Given the description of an element on the screen output the (x, y) to click on. 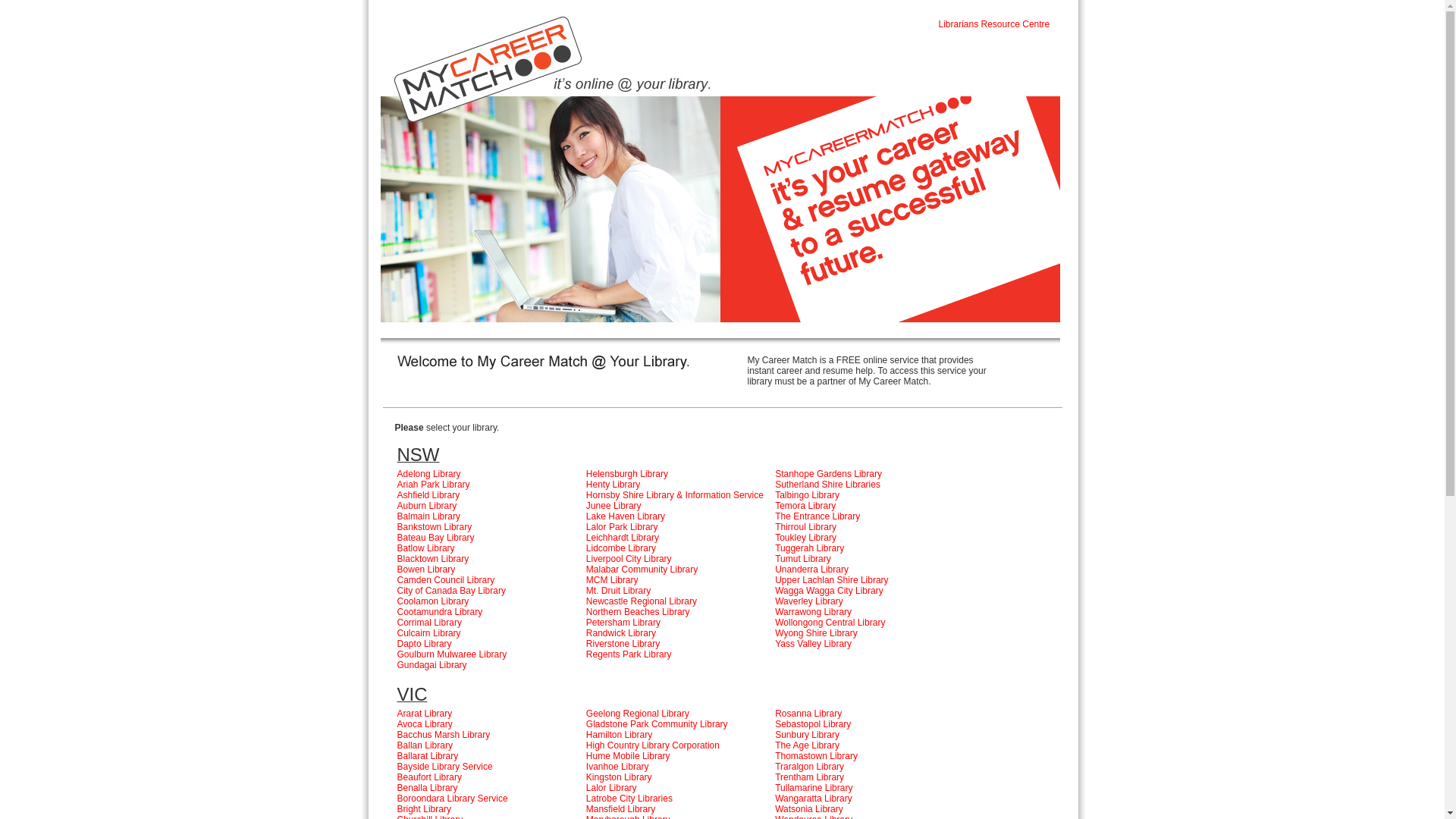
Randwick Library Element type: text (620, 632)
Riverstone Library Element type: text (622, 643)
Bowen Library Element type: text (426, 569)
Avoca Library Element type: text (424, 723)
Ivanhoe Library Element type: text (617, 766)
Bayside Library Service Element type: text (444, 766)
Stanhope Gardens Library Element type: text (828, 473)
Dapto Library Element type: text (424, 643)
Balmain Library Element type: text (428, 516)
Mansfield Library Element type: text (620, 808)
Sunbury Library Element type: text (807, 734)
Sutherland Shire Libraries Element type: text (827, 484)
Blacktown Library Element type: text (433, 558)
Hornsby Shire Library & Information Service Element type: text (675, 494)
Wangaratta Library Element type: text (813, 798)
Goulburn Mulwaree Library Element type: text (452, 654)
Liverpool City Library Element type: text (628, 558)
Thirroul Library Element type: text (805, 526)
Lidcombe Library Element type: text (620, 547)
Toukley Library Element type: text (805, 537)
Warrawong Library Element type: text (813, 611)
Bankstown Library Element type: text (434, 526)
Gundagai Library Element type: text (432, 664)
Lalor Library Element type: text (611, 787)
Tumut Library Element type: text (803, 558)
Ararat Library Element type: text (424, 713)
Culcairn Library Element type: text (429, 632)
Camden Council Library Element type: text (446, 579)
Beaufort Library Element type: text (429, 776)
Talbingo Library Element type: text (807, 494)
Unanderra Library Element type: text (811, 569)
Geelong Regional Library Element type: text (637, 713)
The Age Library Element type: text (807, 745)
Coolamon Library Element type: text (433, 601)
Watsonia Library Element type: text (809, 808)
Henty Library Element type: text (613, 484)
Hamilton Library Element type: text (619, 734)
Trentham Library Element type: text (809, 776)
Ballan Library Element type: text (424, 745)
Bateau Bay Library Element type: text (435, 537)
Leichhardt Library Element type: text (622, 537)
Kingston Library Element type: text (619, 776)
Regents Park Library Element type: text (628, 654)
Auburn Library Element type: text (427, 505)
Ballarat Library Element type: text (427, 755)
Lake Haven Library Element type: text (625, 516)
Junee Library Element type: text (613, 505)
Bright Library Element type: text (424, 808)
Latrobe City Libraries Element type: text (629, 798)
Traralgon Library Element type: text (809, 766)
Northern Beaches Library Element type: text (638, 611)
Temora Library Element type: text (805, 505)
Benalla Library Element type: text (427, 787)
Tullamarine Library Element type: text (813, 787)
Ariah Park Library Element type: text (433, 484)
Petersham Library Element type: text (623, 622)
Wagga Wagga City Library Element type: text (829, 590)
Thomastown Library Element type: text (816, 755)
City of Canada Bay Library Element type: text (451, 590)
Bacchus Marsh Library Element type: text (443, 734)
Yass Valley Library Element type: text (813, 643)
Wyong Shire Library Element type: text (816, 632)
Cootamundra Library Element type: text (440, 611)
Malabar Community Library Element type: text (641, 569)
Librarians Resource Centre Element type: text (994, 23)
Lalor Park Library Element type: text (622, 526)
Helensburgh Library Element type: text (627, 473)
Mt. Druit Library Element type: text (618, 590)
MCM Library Element type: text (612, 579)
Adelong Library Element type: text (429, 473)
Sebastopol Library Element type: text (812, 723)
Upper Lachlan Shire Library Element type: text (831, 579)
Boroondara Library Service Element type: text (452, 798)
Hume Mobile Library Element type: text (628, 755)
The Entrance Library Element type: text (817, 516)
Gladstone Park Community Library Element type: text (657, 723)
Ashfield Library Element type: text (428, 494)
Rosanna Library Element type: text (808, 713)
Batlow Library Element type: text (426, 547)
Newcastle Regional Library Element type: text (641, 601)
Tuggerah Library Element type: text (809, 547)
Corrimal Library Element type: text (429, 622)
High Country Library Corporation Element type: text (652, 745)
Wollongong Central Library Element type: text (829, 622)
Waverley Library Element type: text (809, 601)
